Given the description of an element on the screen output the (x, y) to click on. 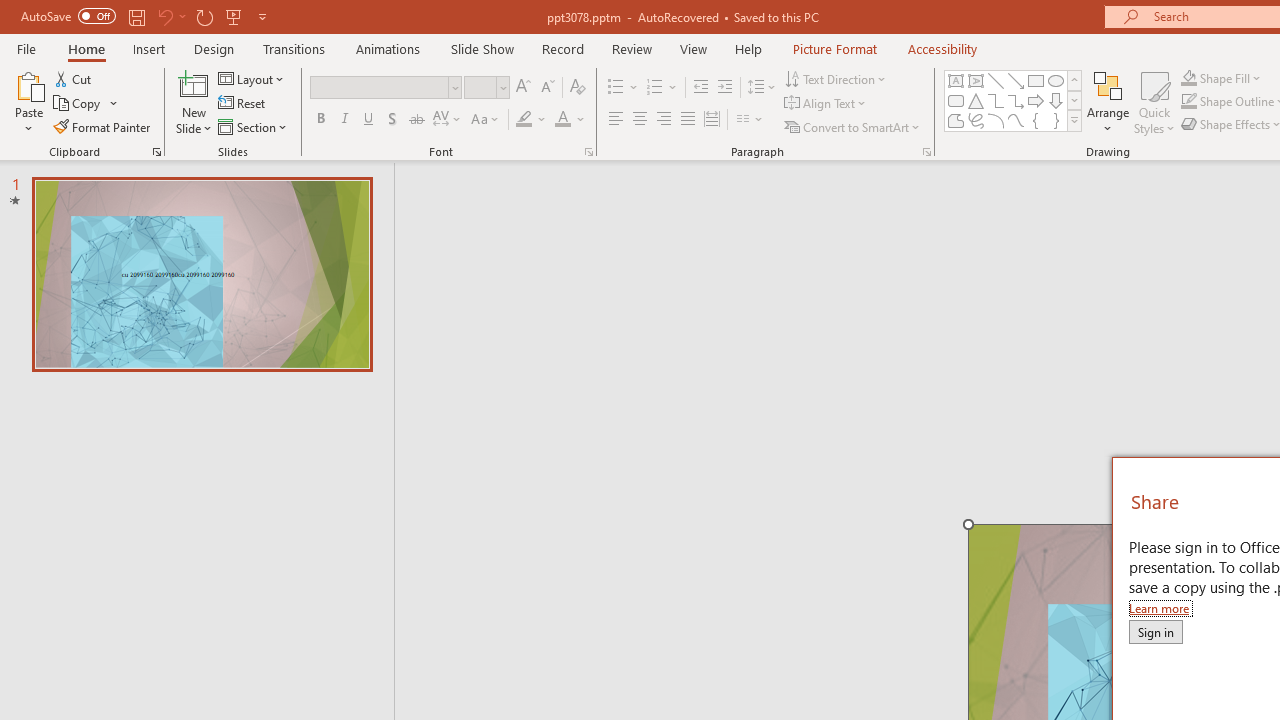
Isosceles Triangle (975, 100)
Text Highlight Color (524, 119)
Cut (73, 78)
Justify (687, 119)
Shapes (1074, 120)
Character Spacing (447, 119)
Text Highlight Color (531, 119)
Left Brace (1035, 120)
